Given the description of an element on the screen output the (x, y) to click on. 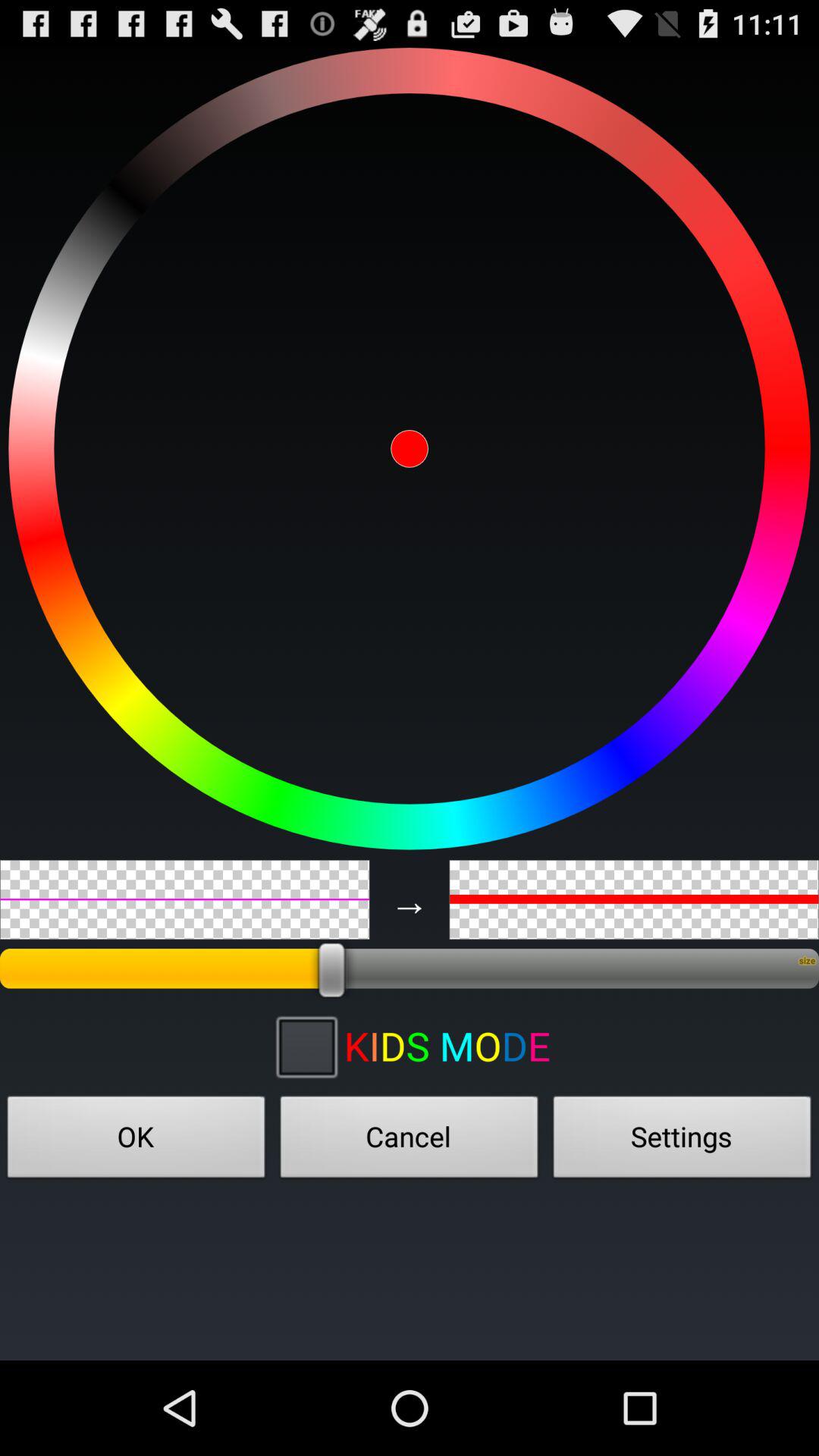
turn on the app next to the kids mode icon (306, 1045)
